Given the description of an element on the screen output the (x, y) to click on. 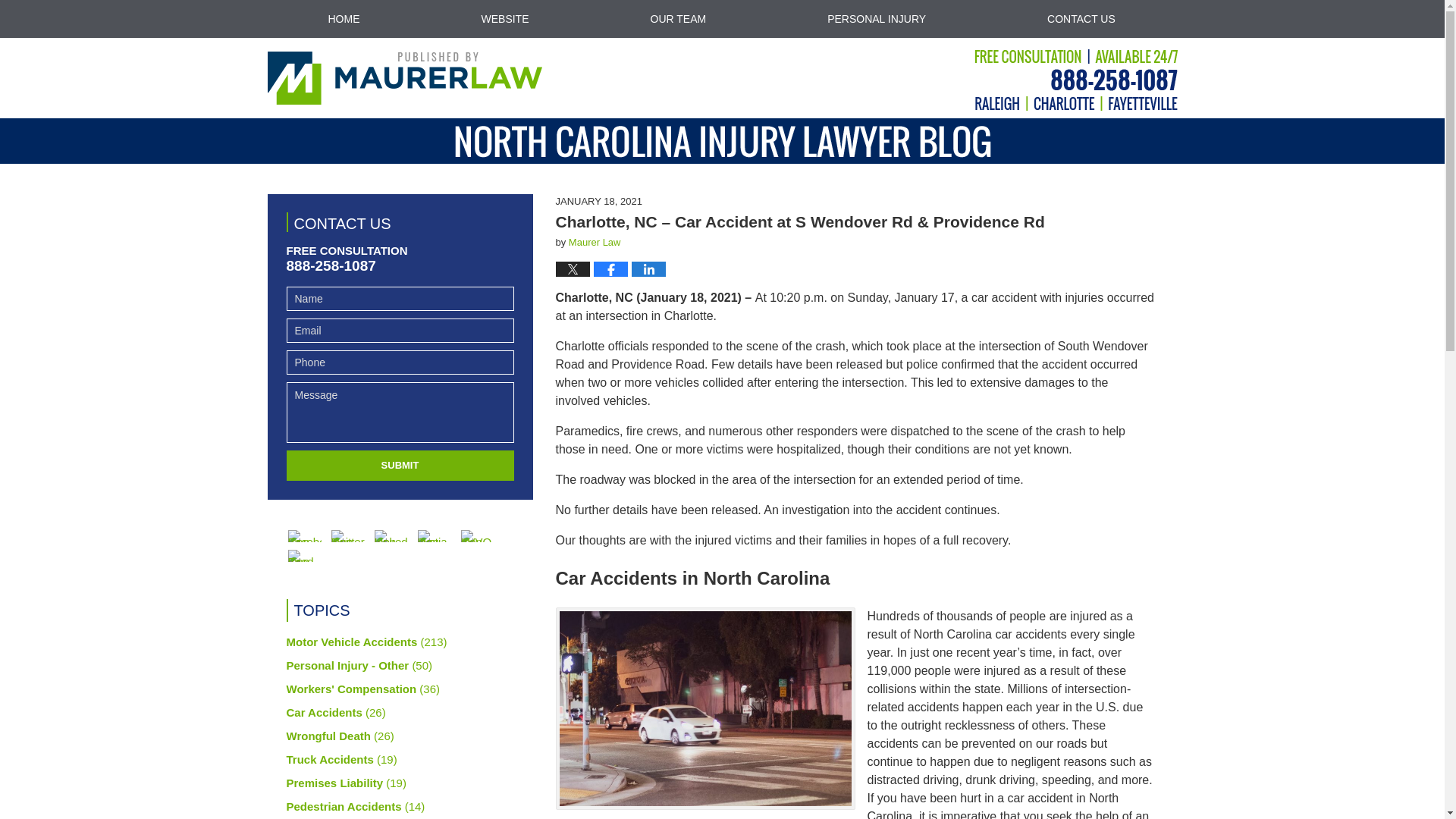
North Carolina Injury Lawyer Blog (403, 77)
PERSONAL INJURY (877, 18)
HOME (343, 18)
Feed (304, 555)
Twitter (347, 535)
AVVO (478, 535)
Maurer Law (595, 242)
CONTACT US (1081, 18)
Please enter a valid phone number. (399, 362)
Facebook (304, 535)
